Given the description of an element on the screen output the (x, y) to click on. 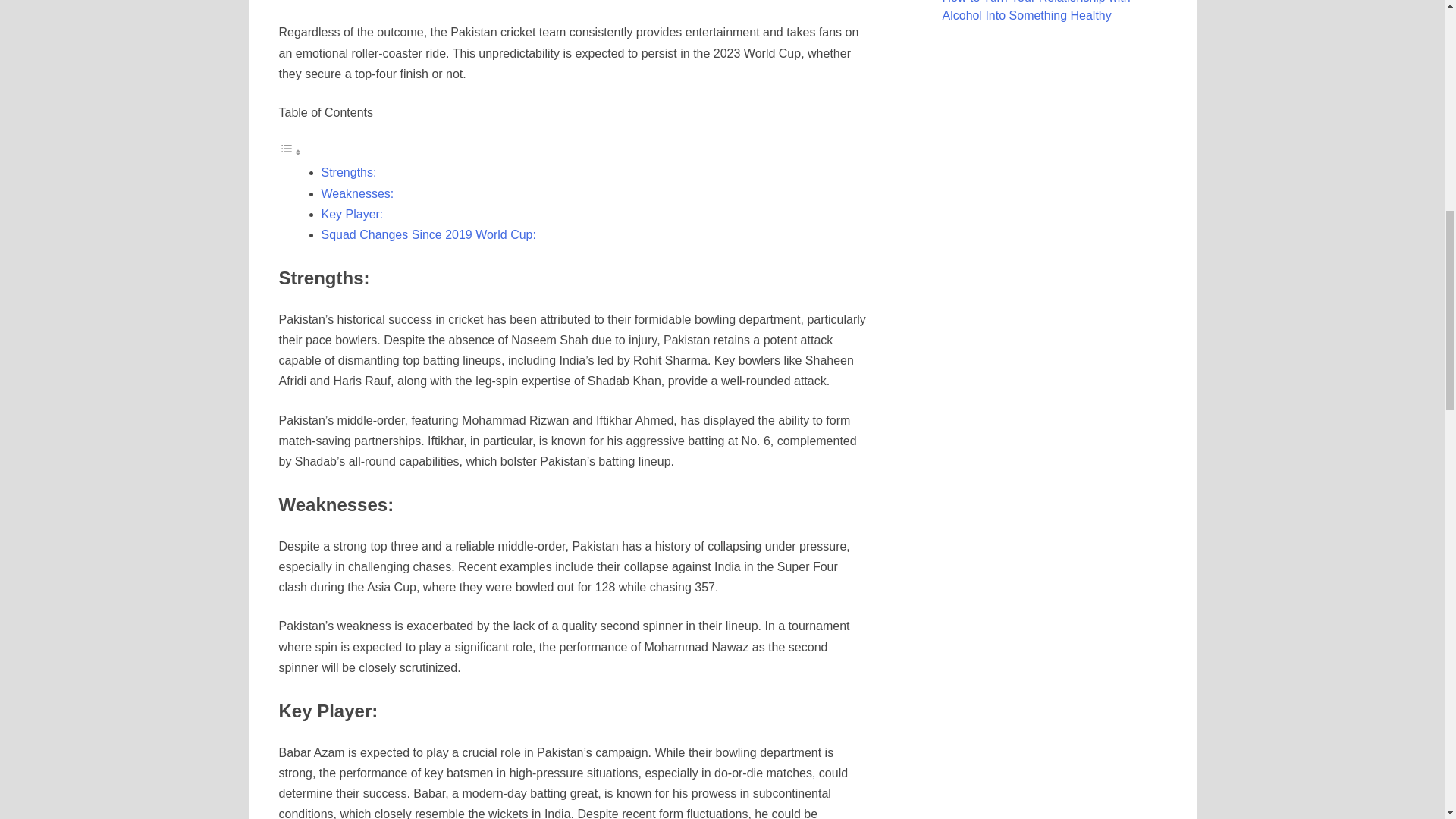
Squad Changes Since 2019 World Cup: (428, 234)
Key Player: (352, 214)
Weaknesses: (357, 193)
Strengths: (349, 172)
